Given the description of an element on the screen output the (x, y) to click on. 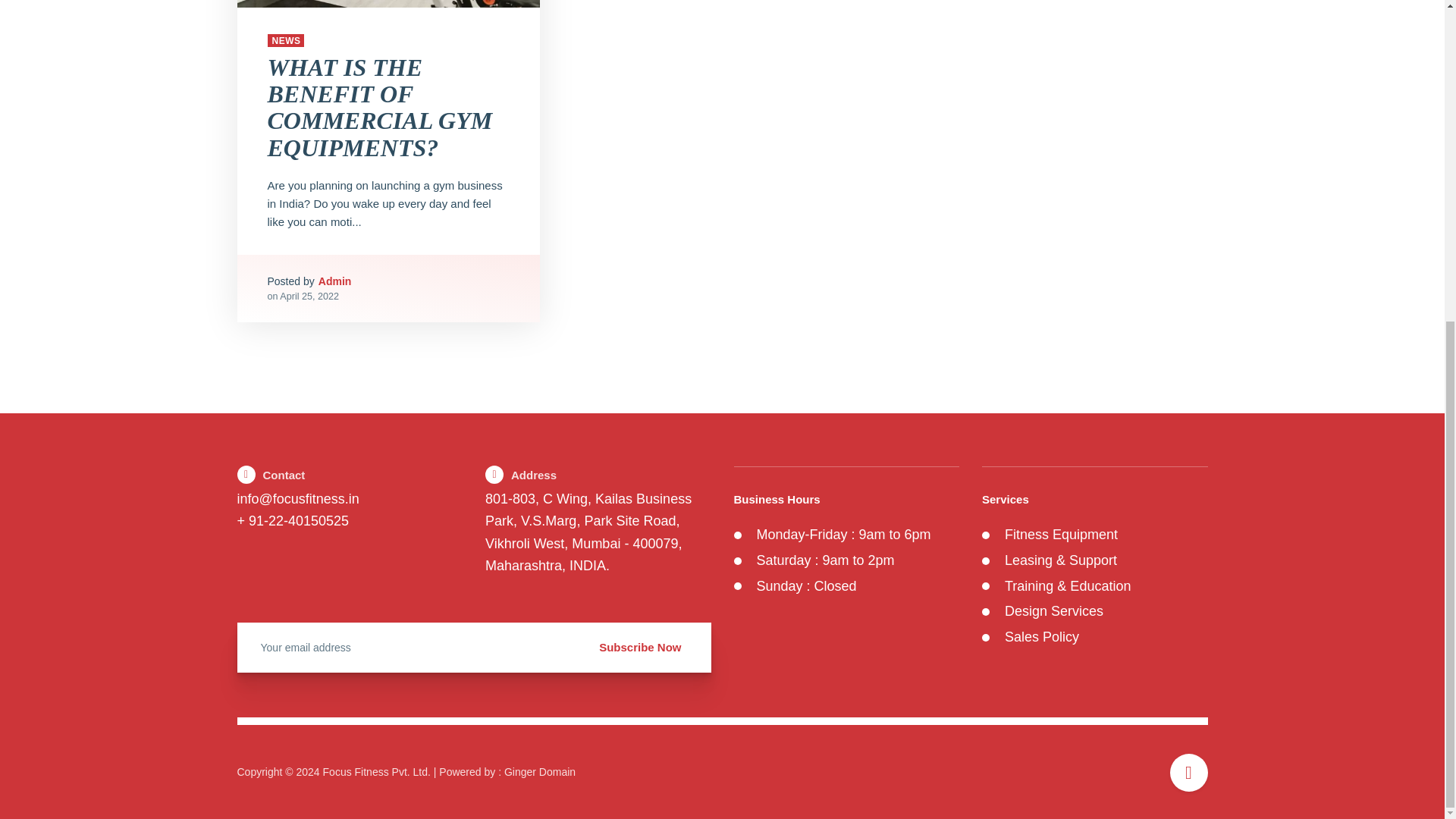
Subscribe Now (639, 647)
Posts by Admin (335, 281)
Equipment-management (387, 3)
